Given the description of an element on the screen output the (x, y) to click on. 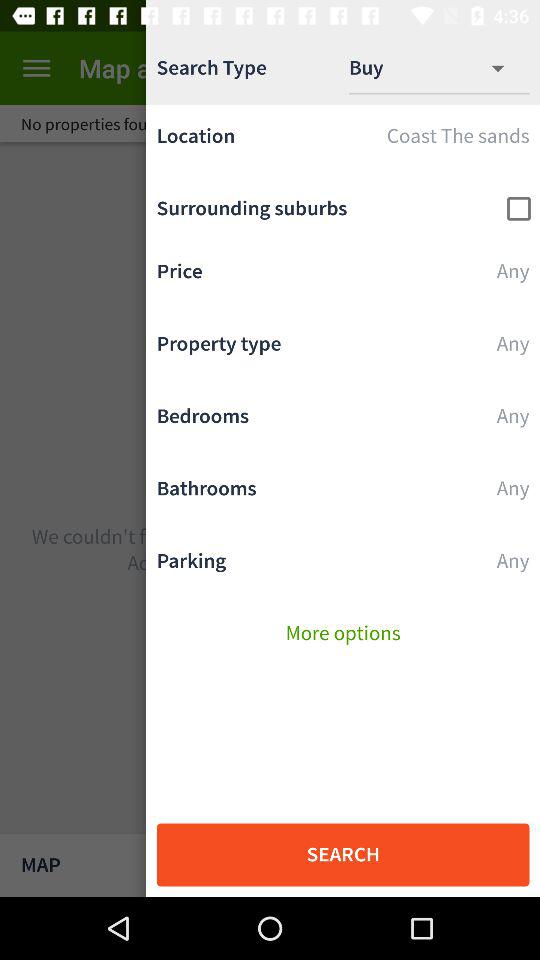
click on bathrooms (342, 493)
click on search button which is below more options (343, 855)
click on the text which says buy (382, 68)
click on the property type which is in the fourth line (342, 348)
select more options which is on the top right corner of the page (508, 68)
select parking (342, 565)
